Given the description of an element on the screen output the (x, y) to click on. 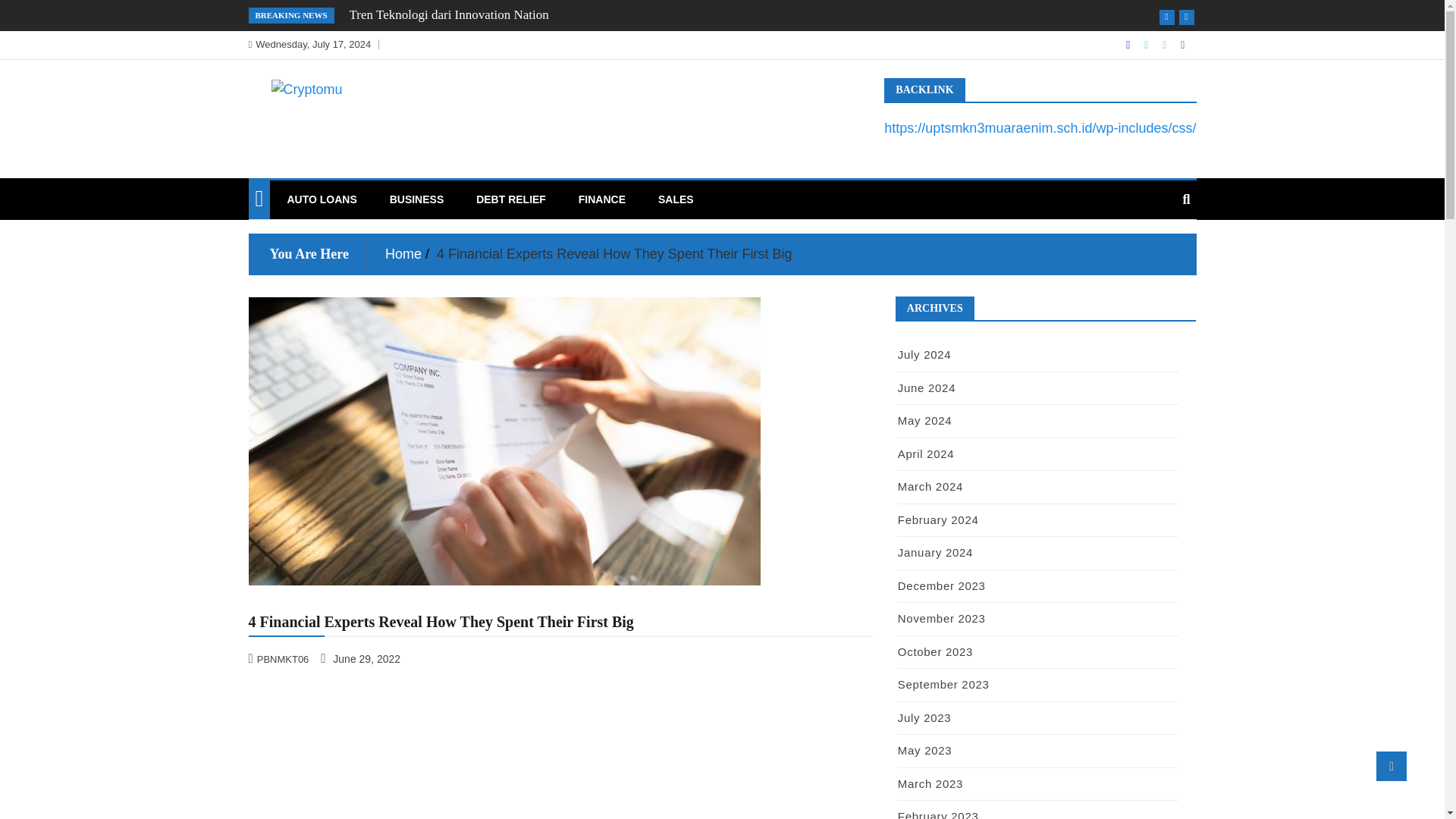
Linkdin (1182, 44)
FINANCE (602, 199)
Cryptomu (308, 120)
AUTO LOANS (321, 199)
Tren Teknologi dari Innovation Nation (448, 14)
Instagram (1165, 44)
SALES (675, 199)
BUSINESS (416, 199)
Twitter (1147, 44)
DEBT RELIEF (510, 199)
Facebook (1128, 44)
